Given the description of an element on the screen output the (x, y) to click on. 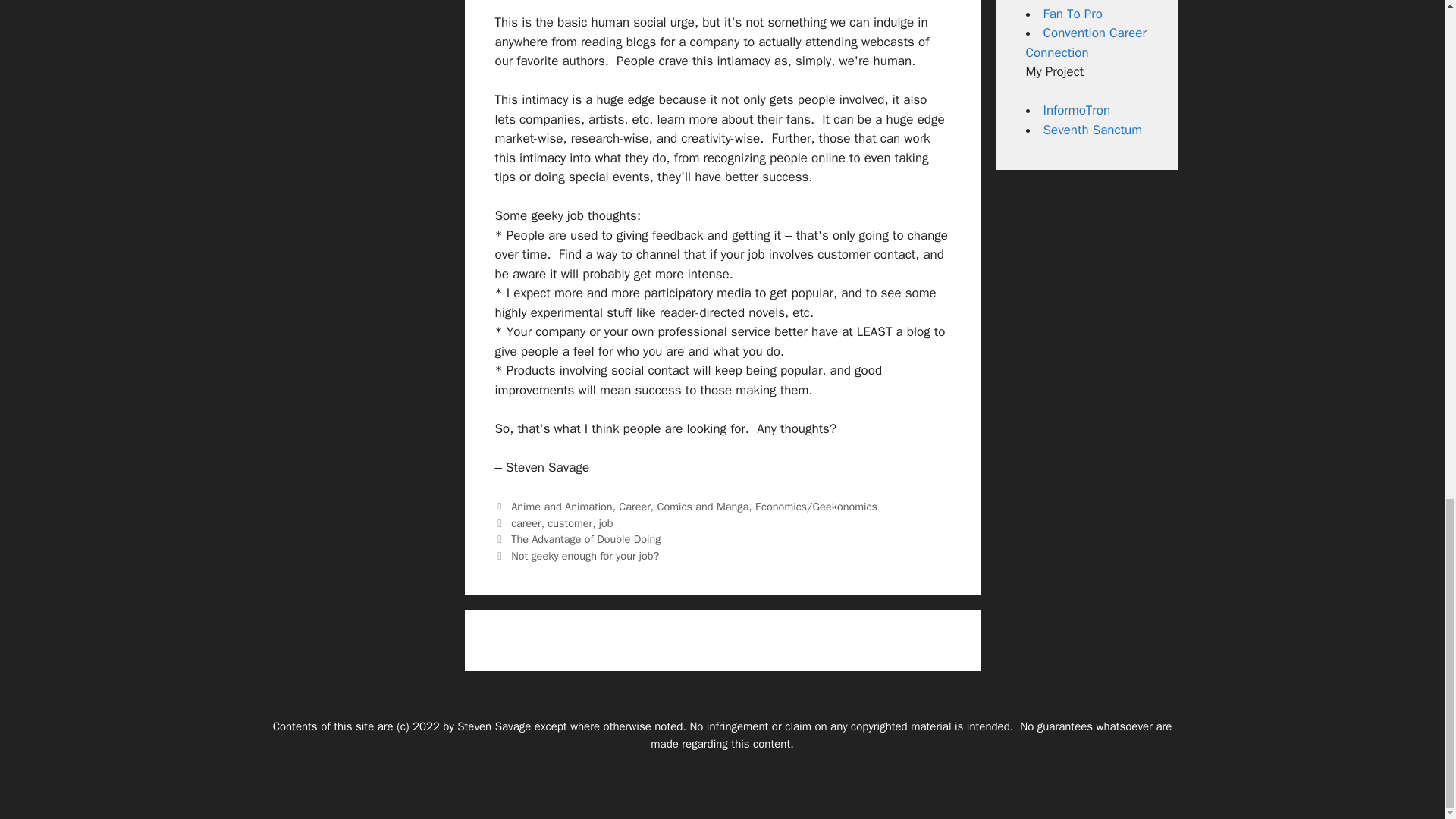
Scroll back to top (1406, 243)
Not geeky enough for your job? (585, 555)
Anime and Animation (561, 506)
job (605, 522)
Career (634, 506)
customer (569, 522)
Comics and Manga (703, 506)
The Advantage of Double Doing (586, 539)
career (526, 522)
